Given the description of an element on the screen output the (x, y) to click on. 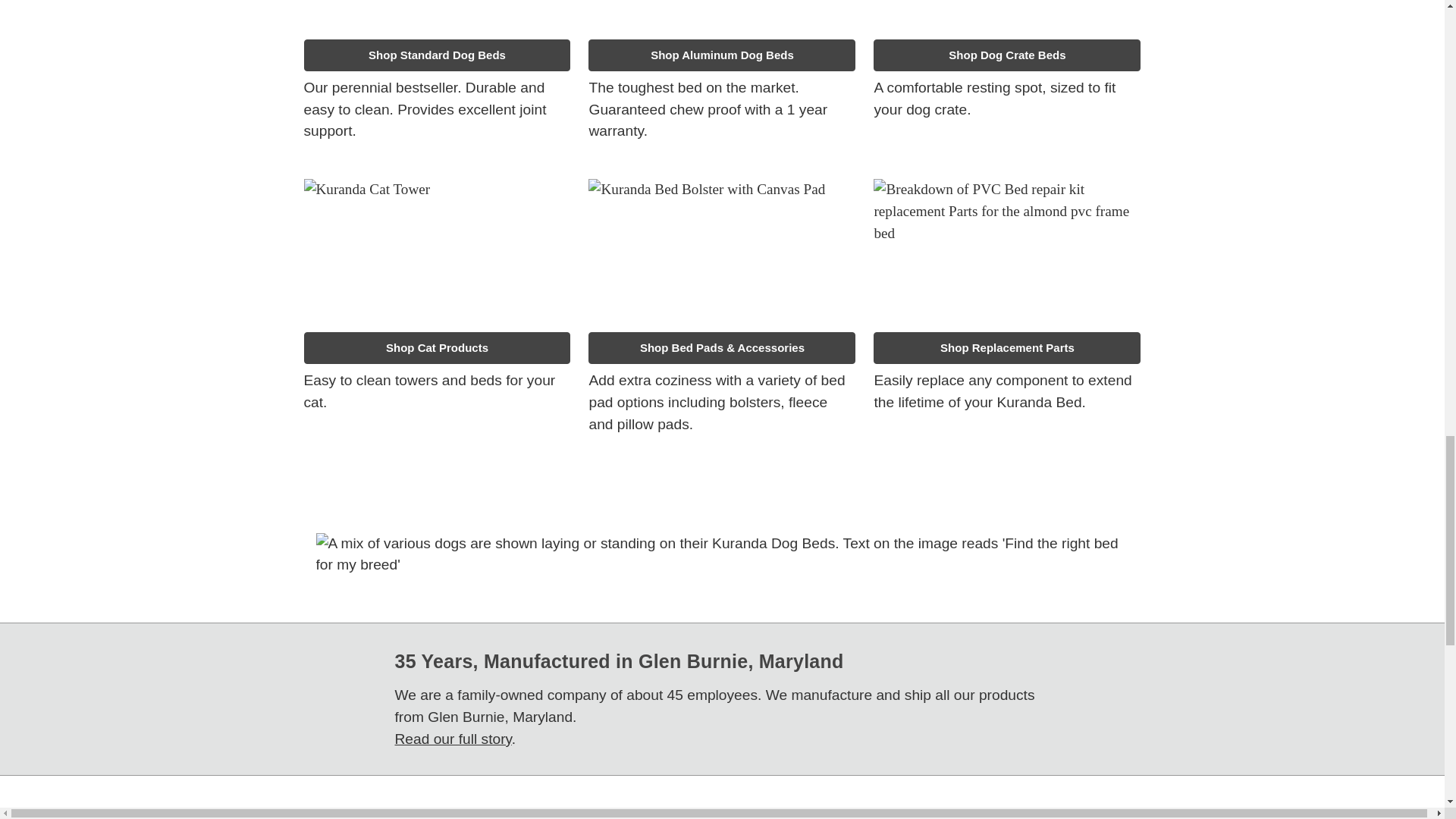
Shop Standard Dog Beds (436, 55)
